Given the description of an element on the screen output the (x, y) to click on. 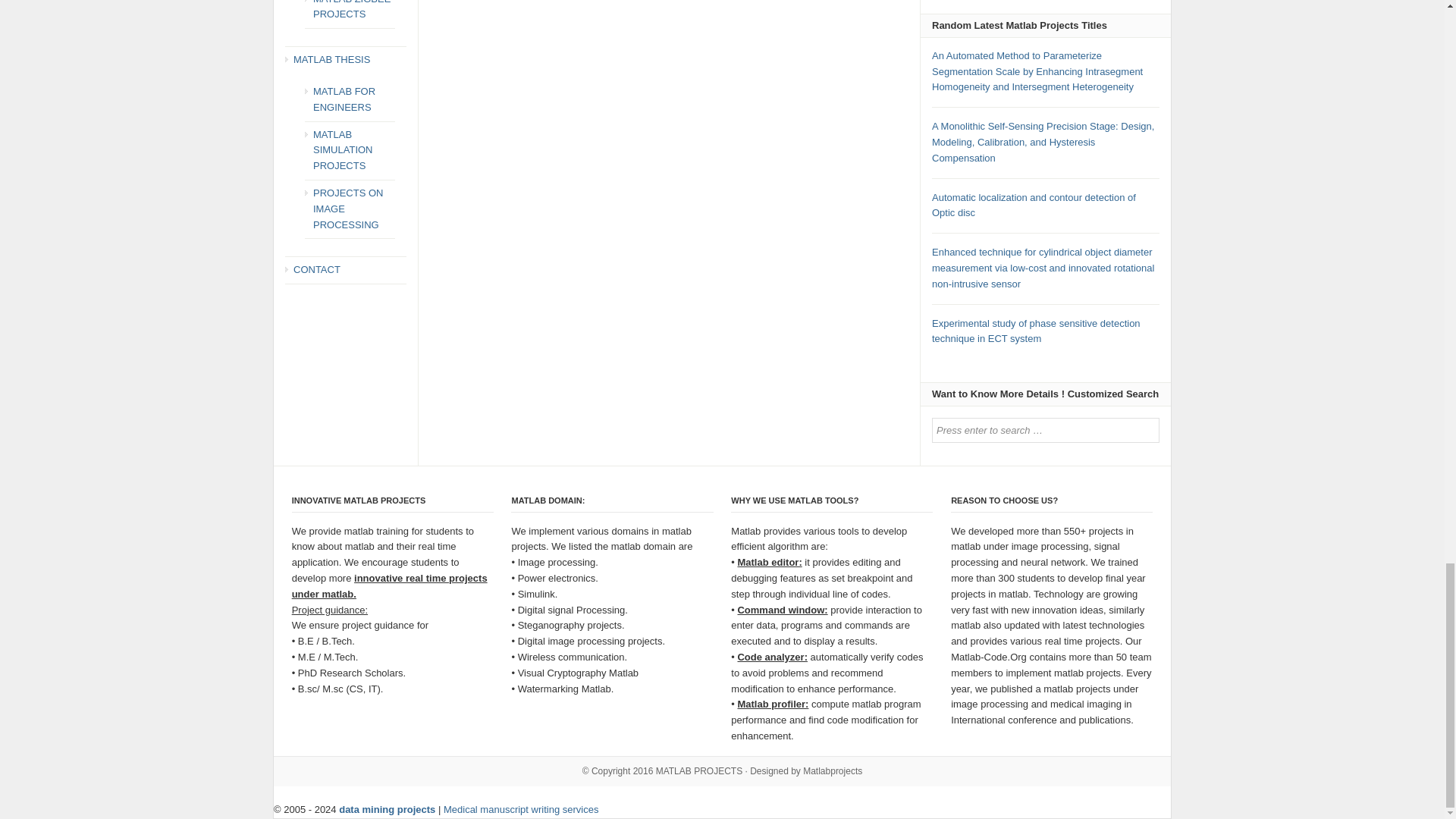
Search for: (1044, 430)
